Given the description of an element on the screen output the (x, y) to click on. 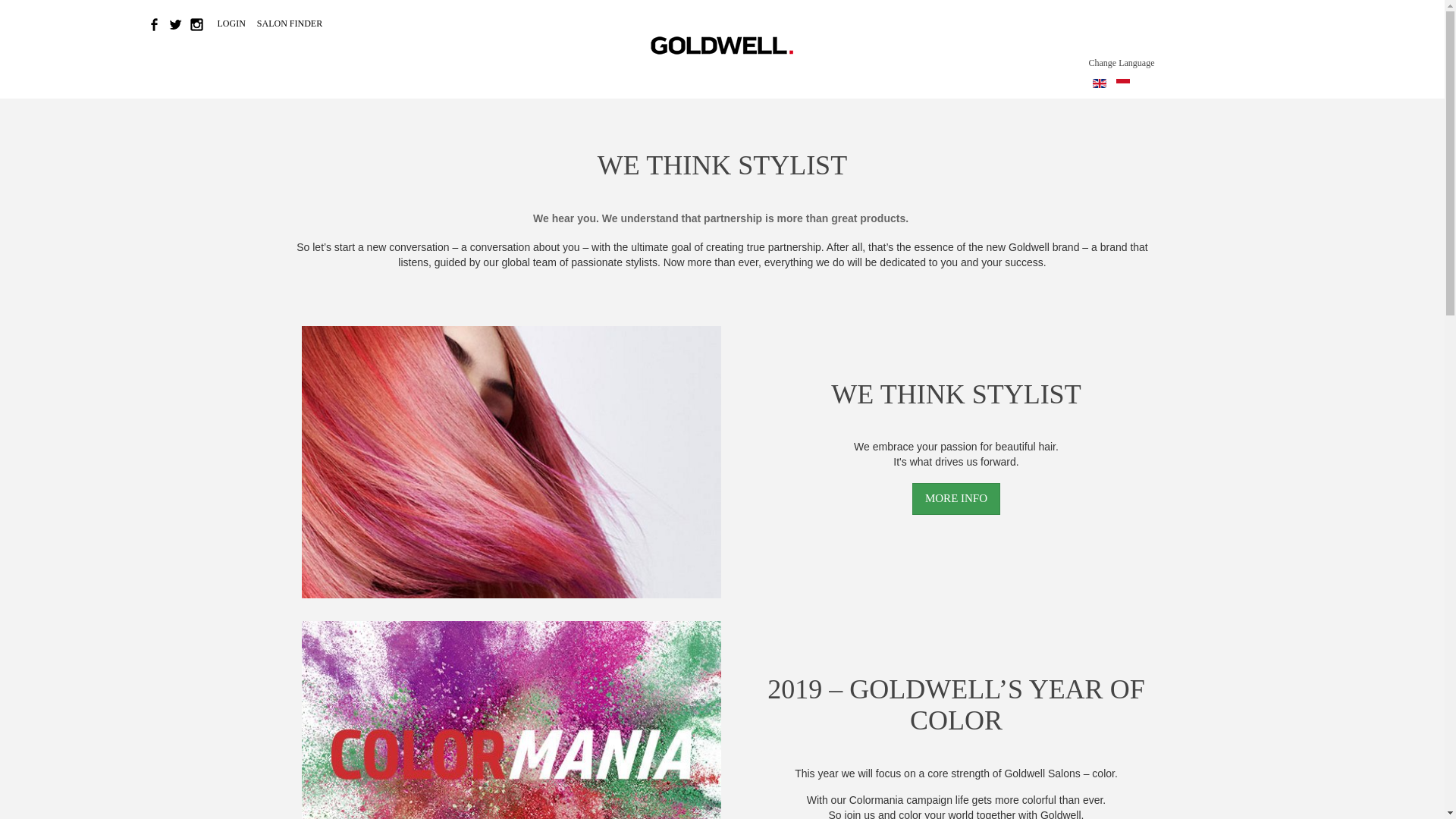
BahasaIndonesia (1122, 82)
SALON FINDER (289, 23)
LOGIN (231, 23)
